Given the description of an element on the screen output the (x, y) to click on. 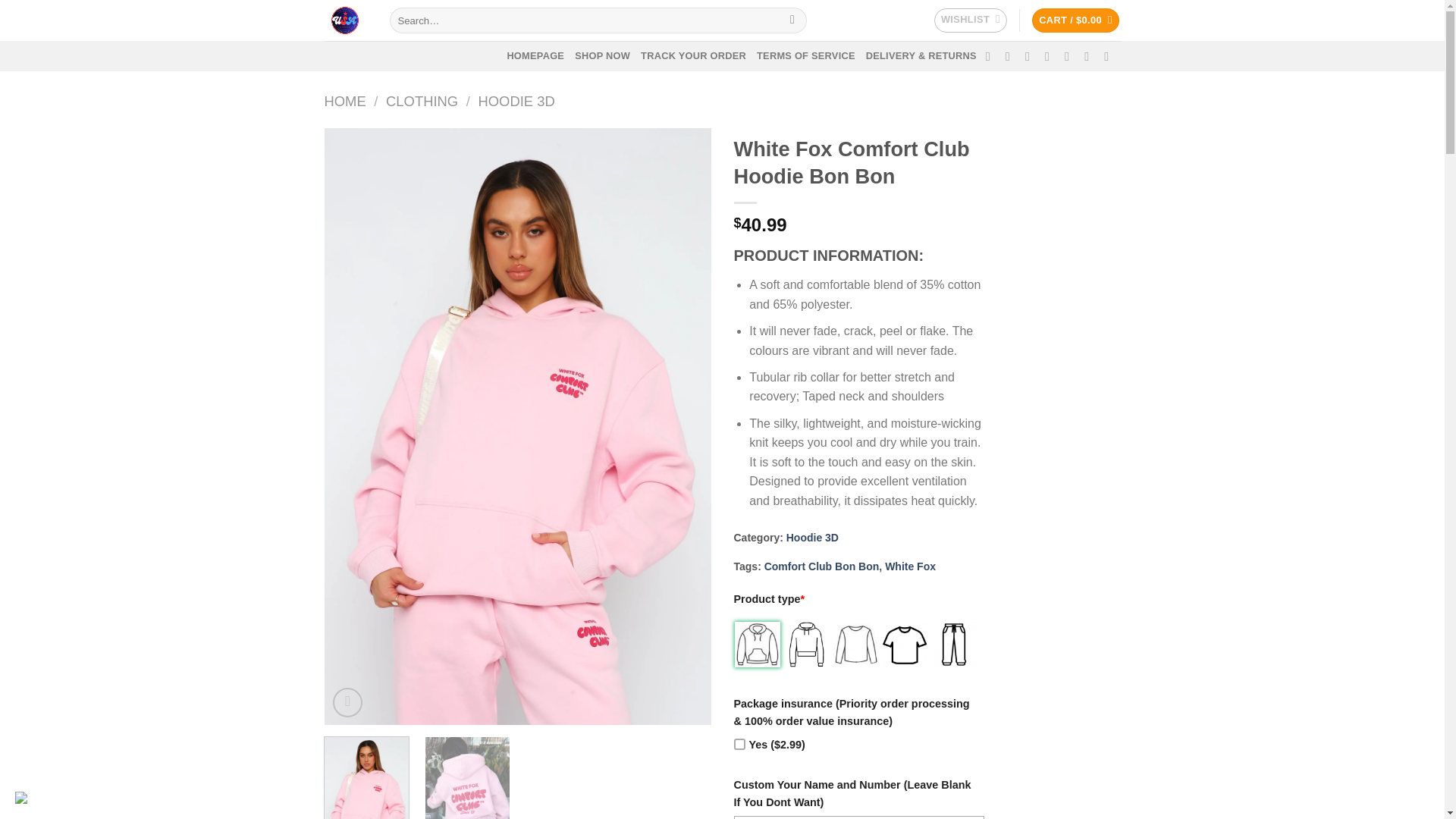
CLOTHING (421, 100)
WISHLIST (970, 20)
Follow on Twitter (1030, 56)
Hoodie 3D (812, 537)
Send us an email (1051, 56)
HOODIE 3D (516, 100)
TERMS OF SERVICE (806, 55)
White Fox (910, 566)
Cart (1075, 20)
Zoom (347, 702)
HOMEPAGE (535, 55)
Follow on TikTok (1011, 56)
Search (792, 20)
